Given the description of an element on the screen output the (x, y) to click on. 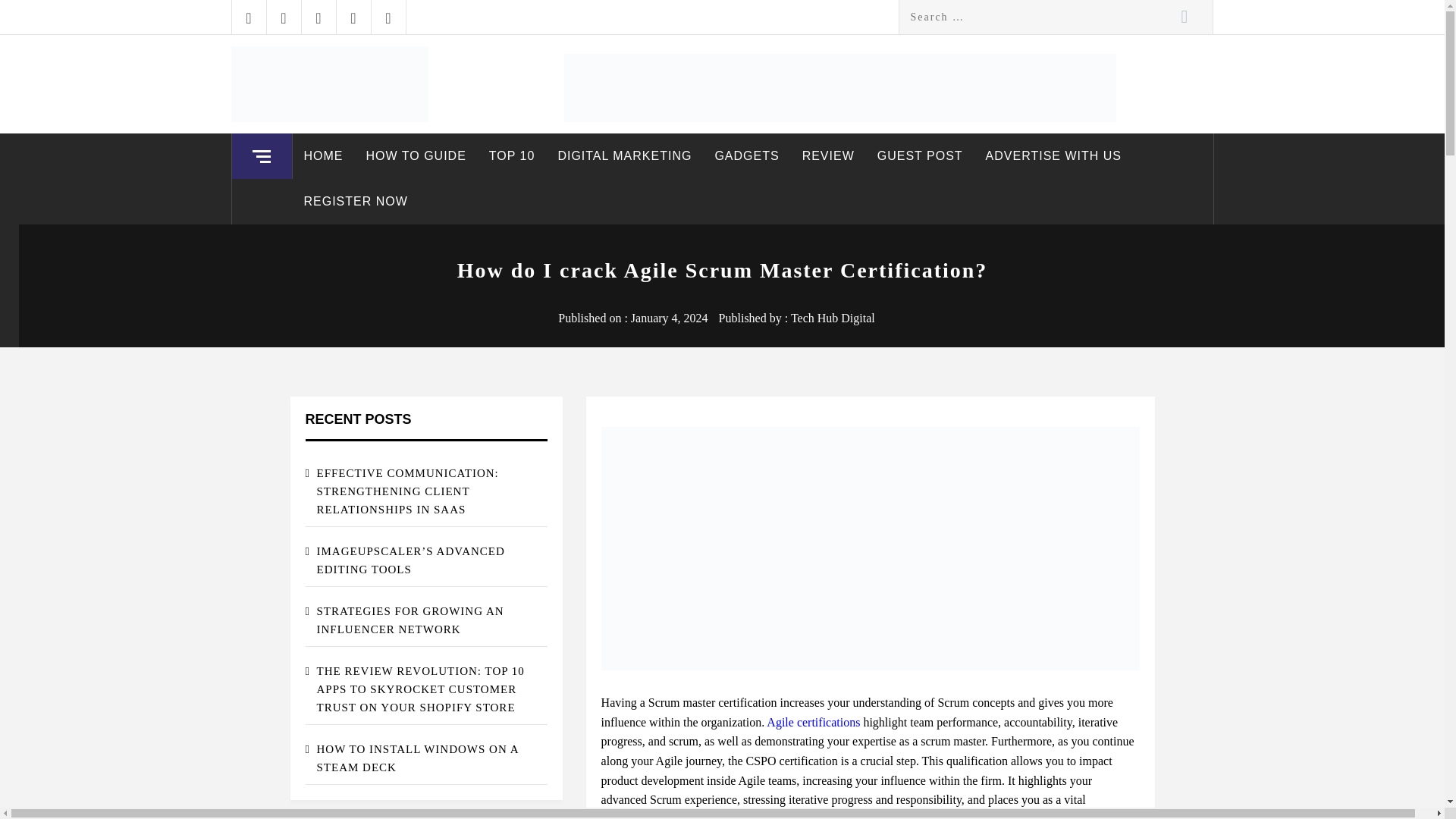
Search (1184, 17)
REVIEW (828, 156)
TOP 10 (512, 156)
Search (1184, 17)
Agile certifications (813, 721)
GADGETS (746, 156)
HOW TO GUIDE (416, 156)
HOW TO INSTALL WINDOWS ON A STEAM DECK (425, 758)
January 4, 2024 (668, 318)
ADVERTISE WITH US (1053, 156)
REGISTER NOW (355, 201)
GUEST POST (920, 156)
Tech Hub Digital (832, 318)
Search (1184, 17)
